Given the description of an element on the screen output the (x, y) to click on. 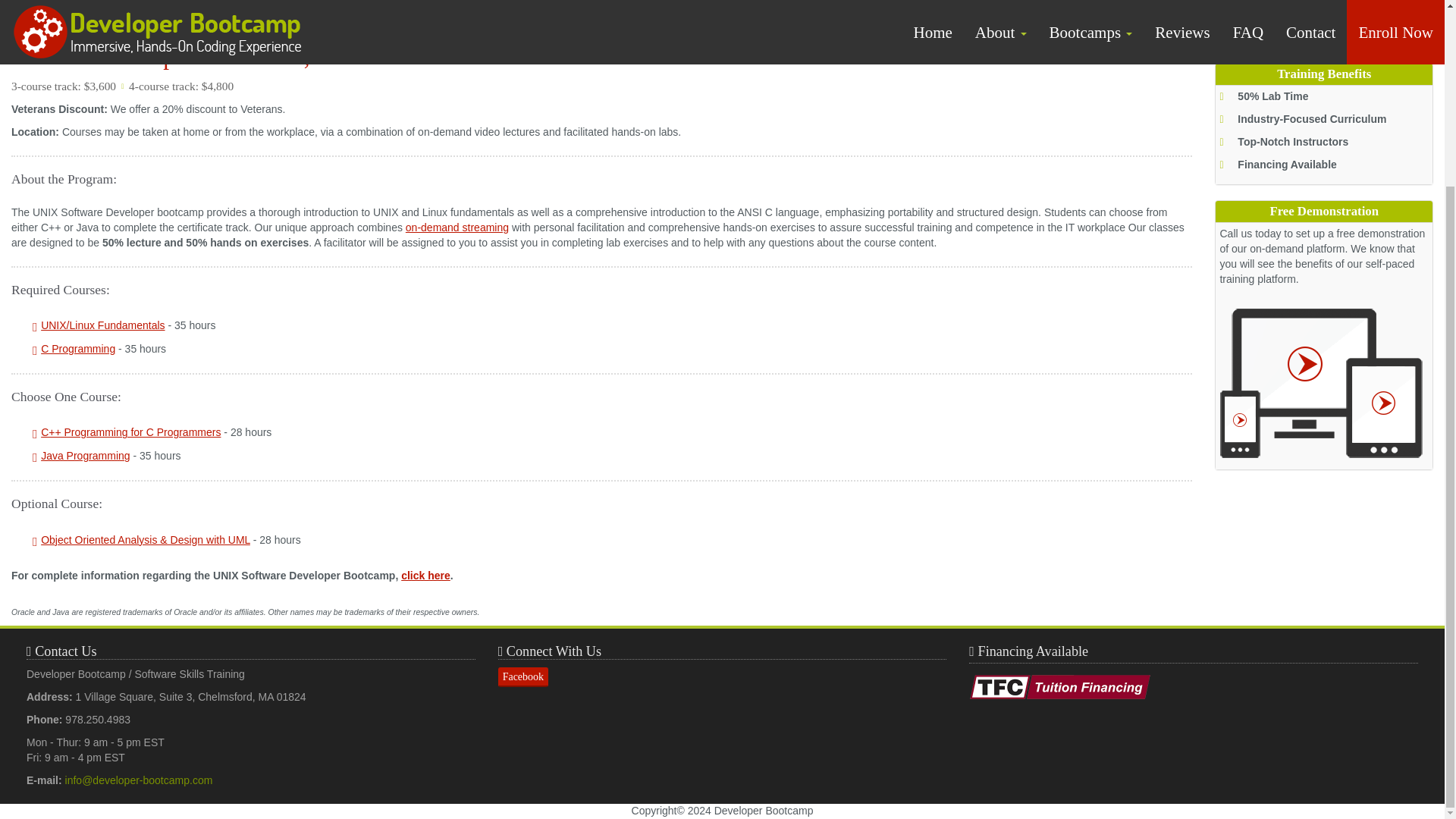
Java Programming (85, 455)
click here (425, 575)
Facebook (522, 677)
on-demand streaming (457, 227)
C Programming (77, 348)
